Given the description of an element on the screen output the (x, y) to click on. 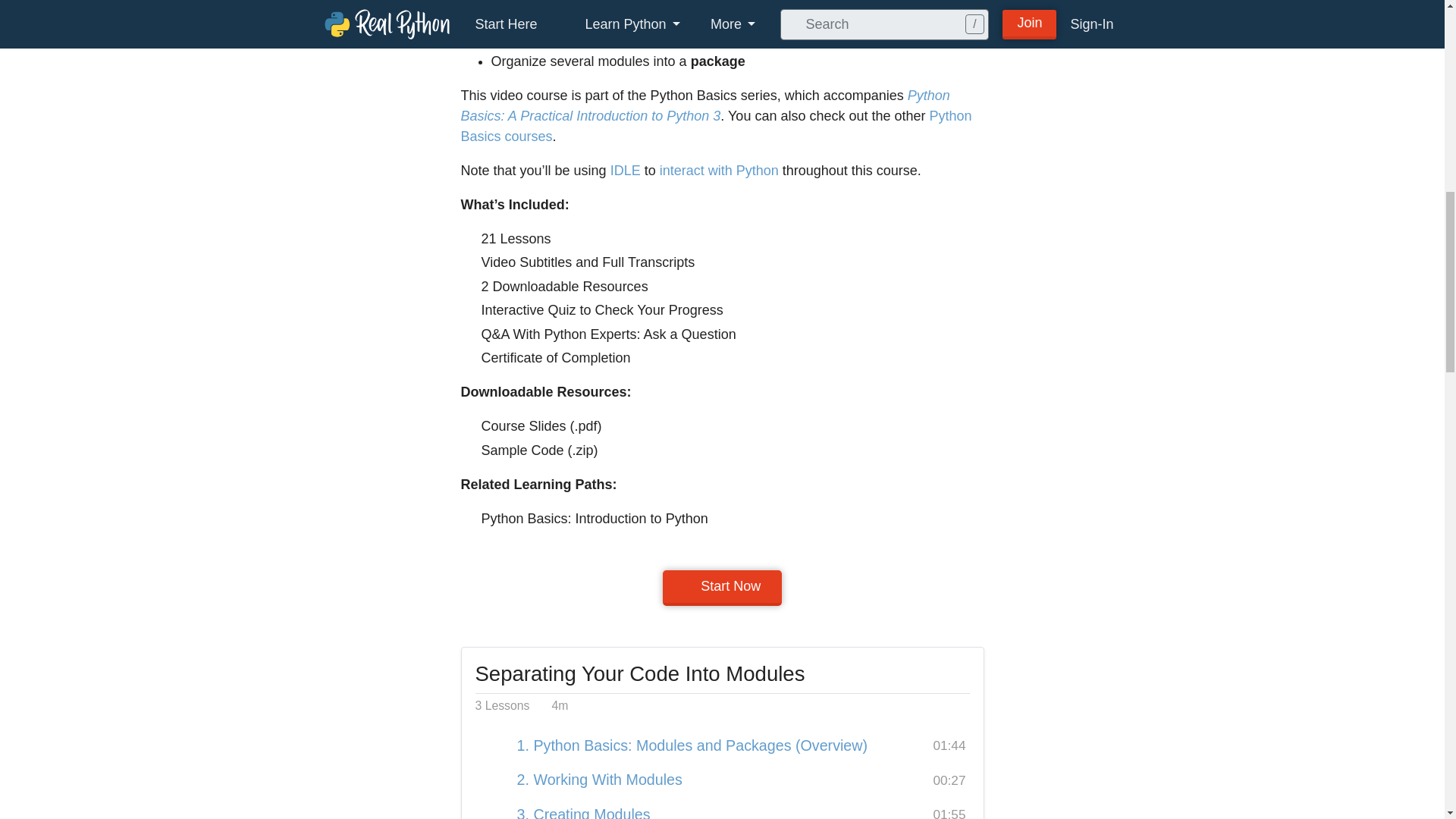
interact with Python (718, 170)
Python Basics: A Practical Introduction to Python 3 (705, 105)
IDLE (625, 170)
Python Basics courses (716, 126)
